Given the description of an element on the screen output the (x, y) to click on. 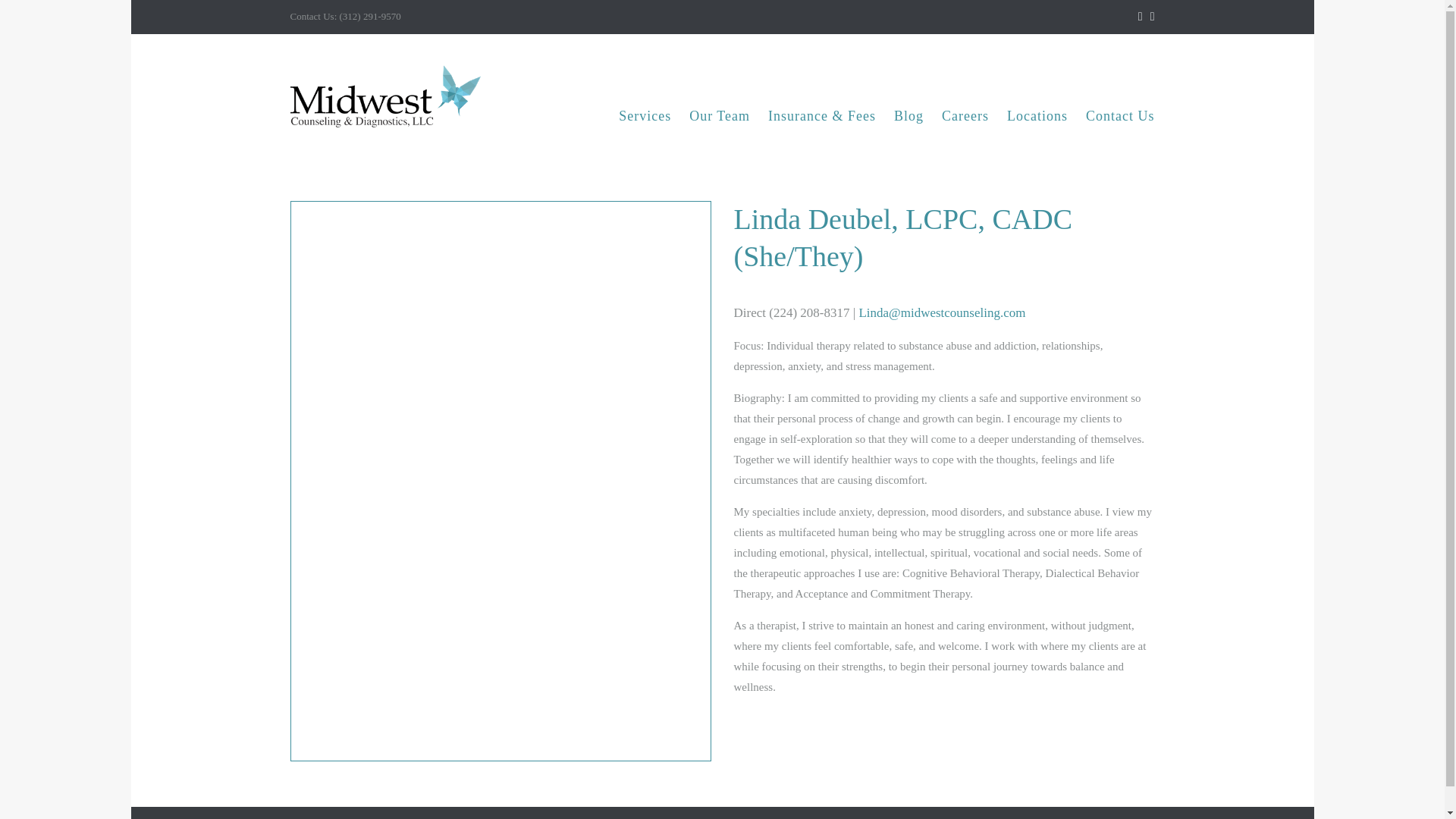
Blog (908, 115)
Services (644, 115)
Careers (965, 115)
Locations (1037, 115)
Contact Us (1120, 115)
Our Team (718, 115)
